Given the description of an element on the screen output the (x, y) to click on. 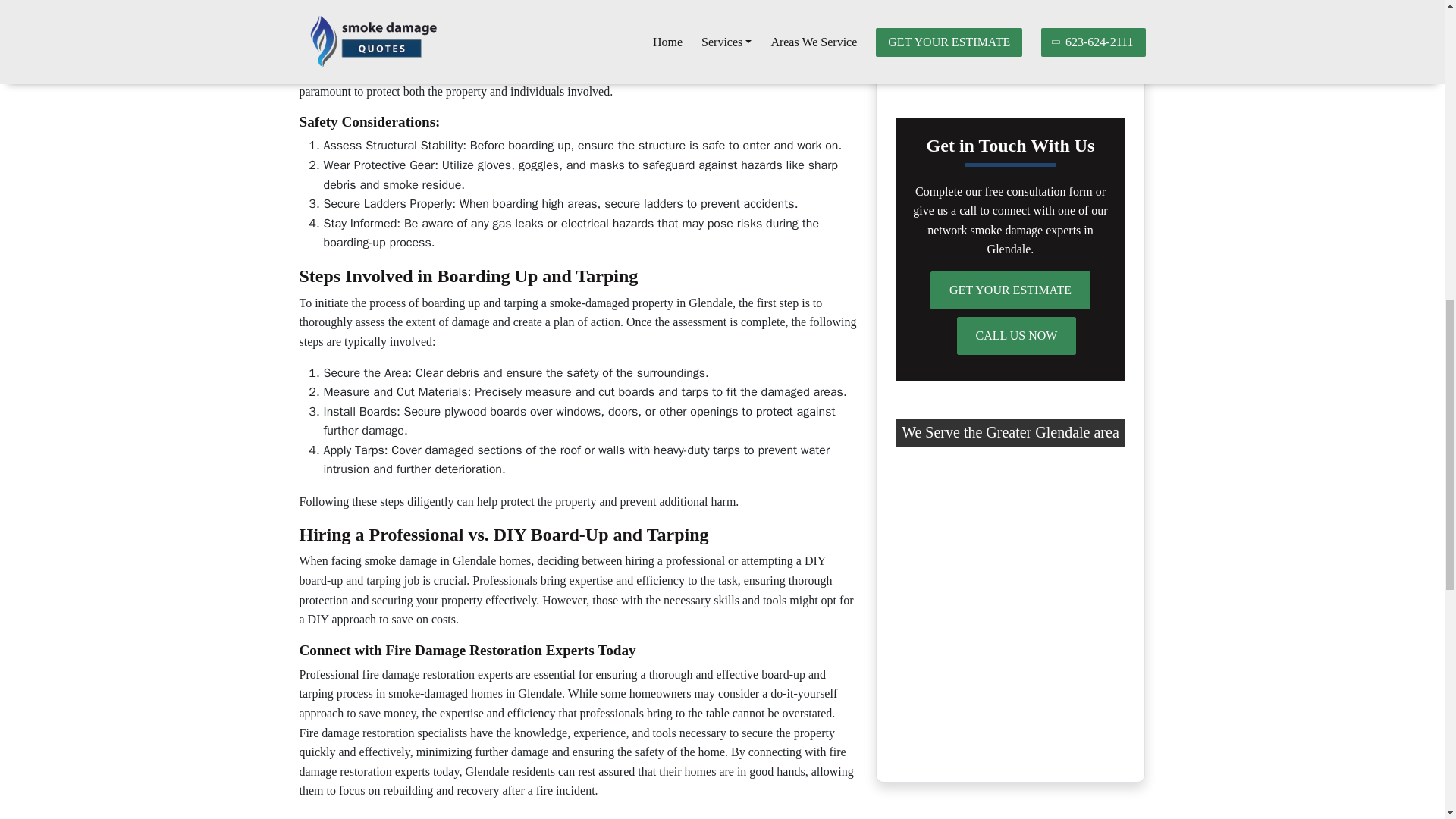
- Why Does Smoke Odor Linger in Homes in Glendale? (1008, 47)
CALL US NOW (1016, 335)
GET YOUR ESTIMATE (1010, 290)
- Effective Steps to Repair Smoke Damage in Glendale Homes (1004, 6)
